Given the description of an element on the screen output the (x, y) to click on. 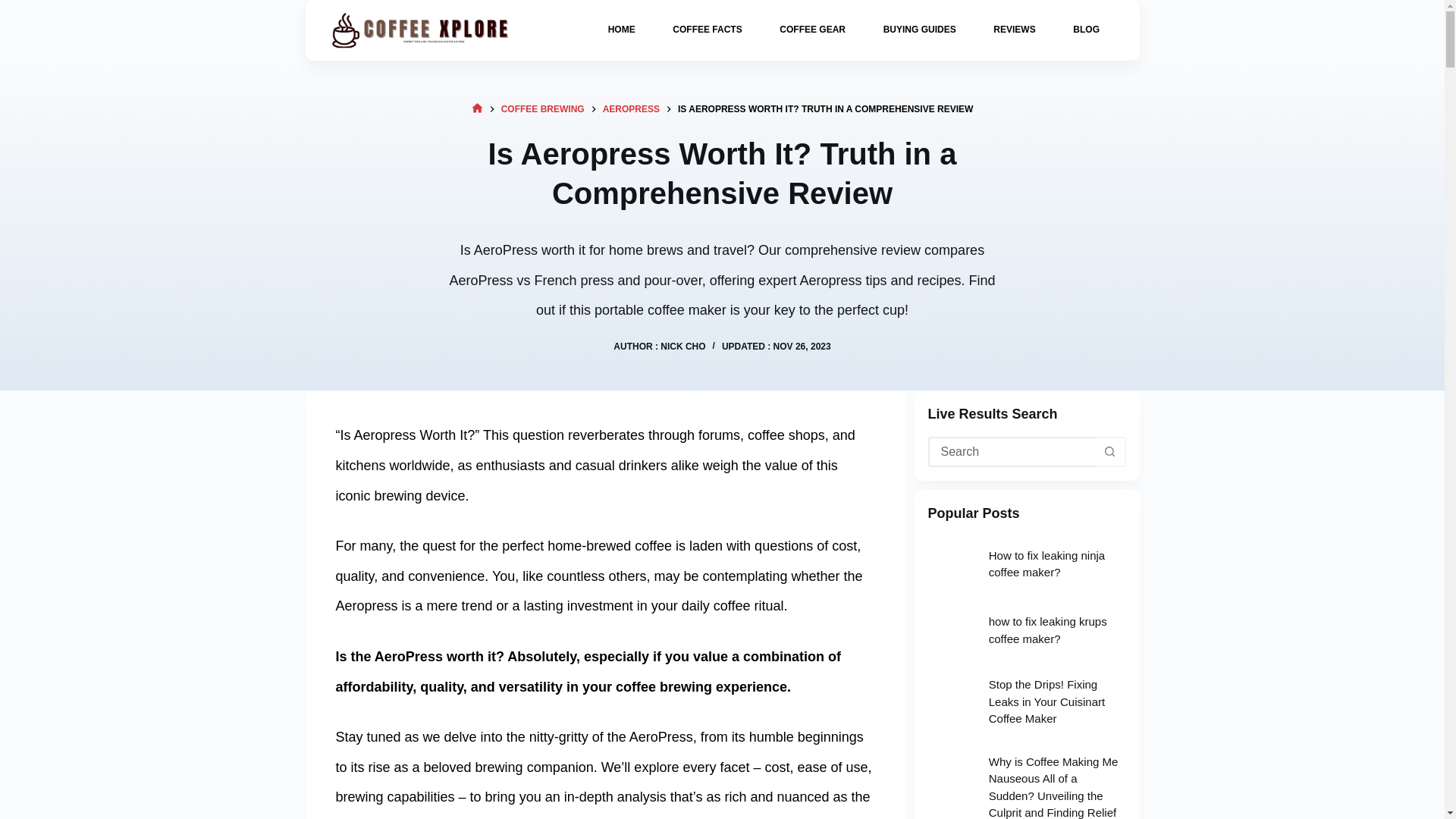
Skip to content (15, 7)
REVIEWS (1013, 30)
AEROPRESS (630, 108)
NICK CHO (682, 346)
COFFEE FACTS (707, 30)
Posts by Nick Cho (682, 346)
BUYING GUIDES (919, 30)
Is Aeropress Worth It? Truth in a Comprehensive Review (722, 173)
Search for... (1012, 451)
COFFEE GEAR (813, 30)
COFFEE BREWING (542, 108)
